Given the description of an element on the screen output the (x, y) to click on. 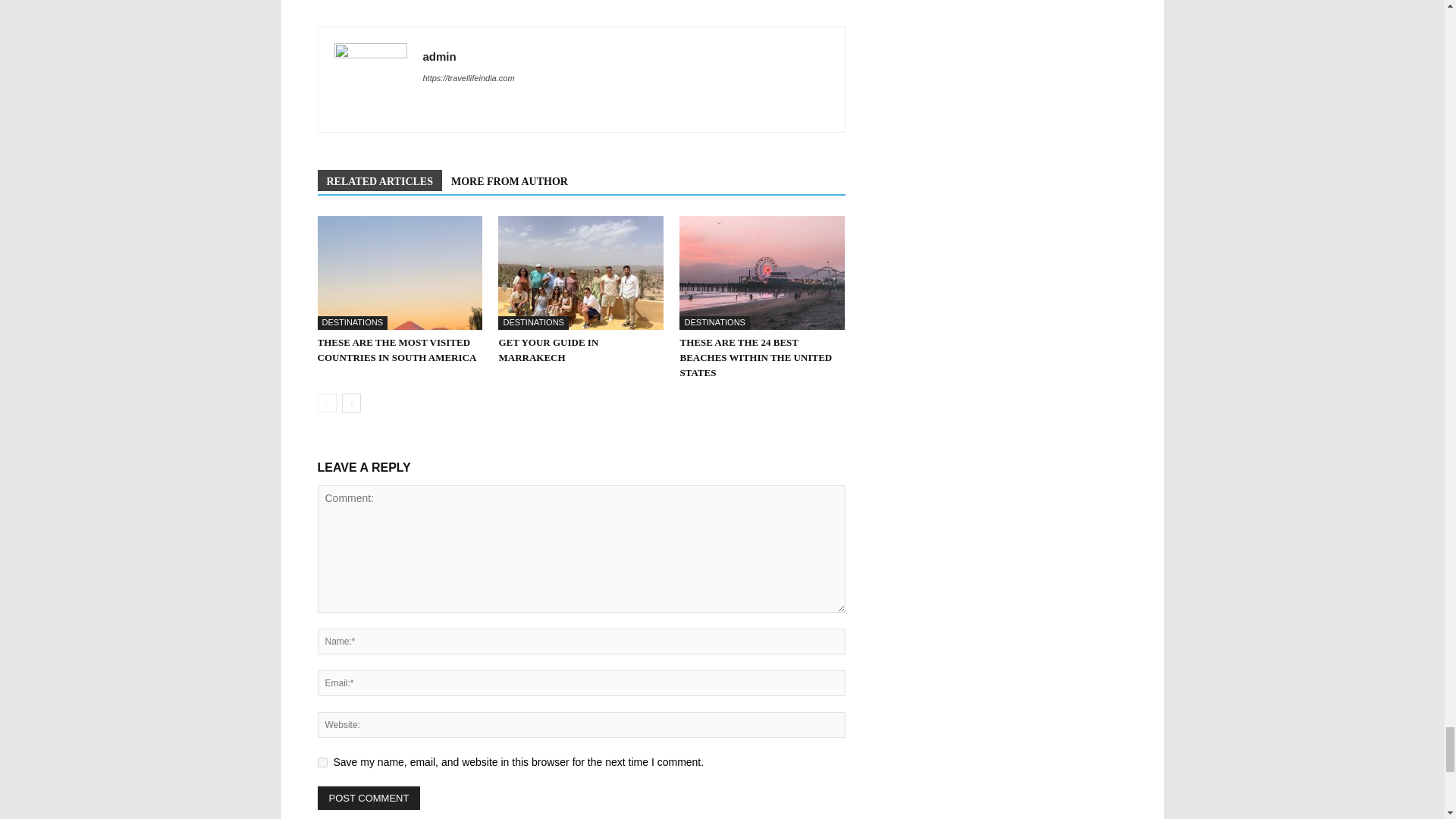
Post Comment (368, 797)
yes (321, 762)
These are the Most Visited Countries in South America (399, 273)
